Given the description of an element on the screen output the (x, y) to click on. 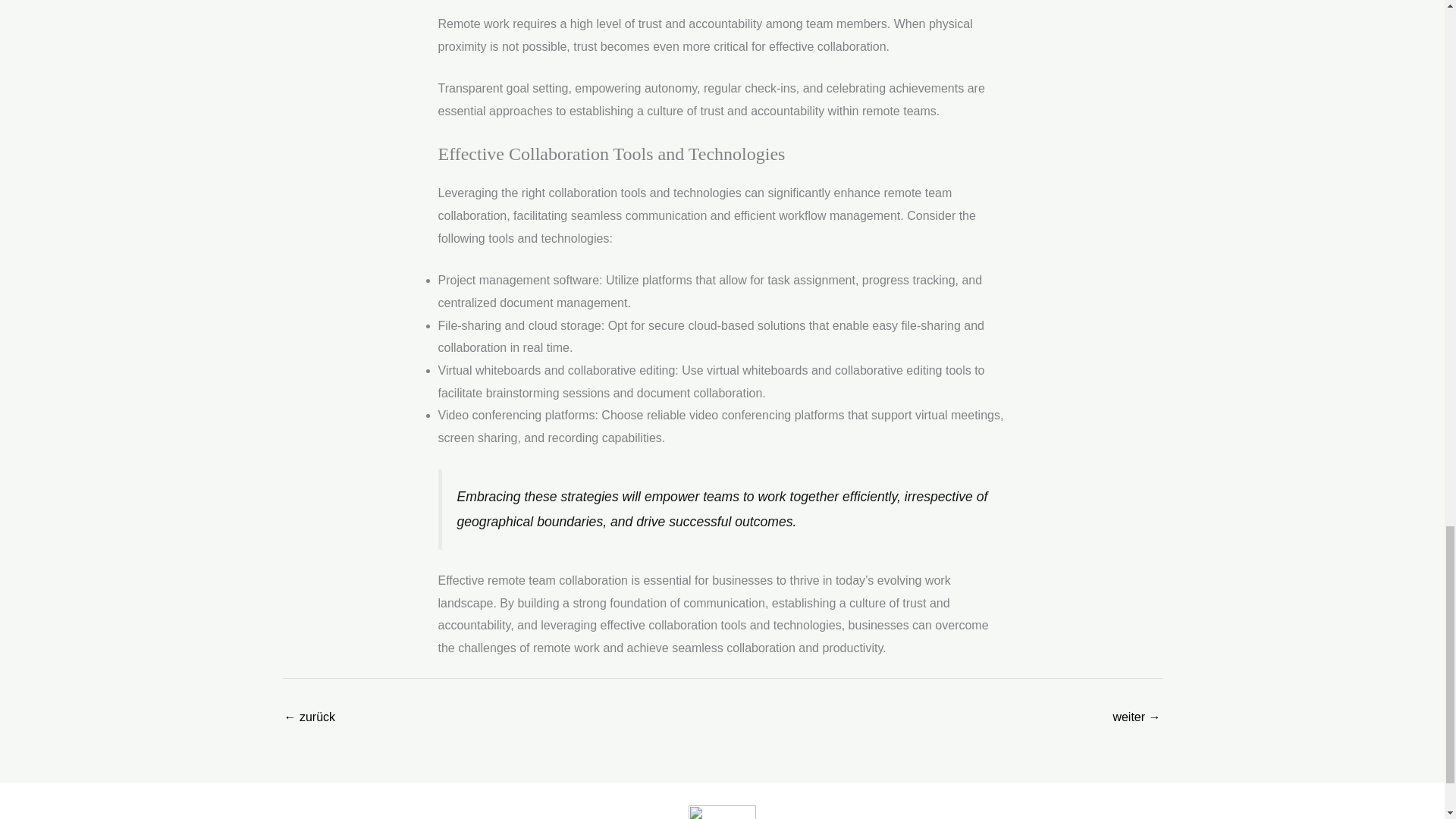
Effective Budgeting Techniques (1136, 718)
Mastering Financial Decision-Making (308, 718)
